Given the description of an element on the screen output the (x, y) to click on. 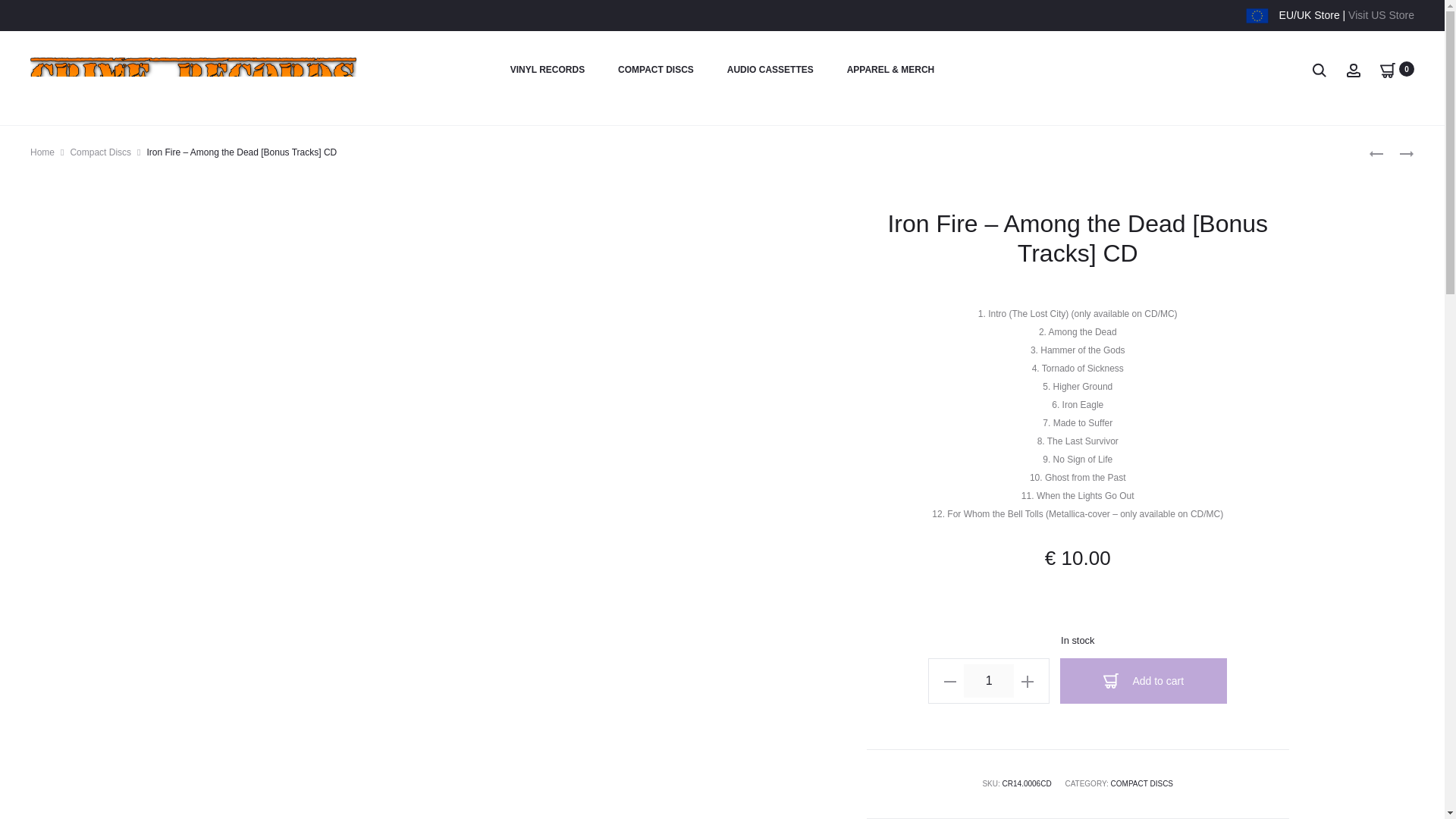
AUDIO CASSETTES (769, 70)
0 (1387, 69)
Add to cart (1143, 680)
Qty (988, 680)
COMPACT DISCS (1141, 783)
Visit US Store (1380, 15)
COMPACT DISCS (655, 70)
Home (42, 152)
1 (988, 680)
VINYL RECORDS (548, 70)
Compact Discs (100, 152)
